Given the description of an element on the screen output the (x, y) to click on. 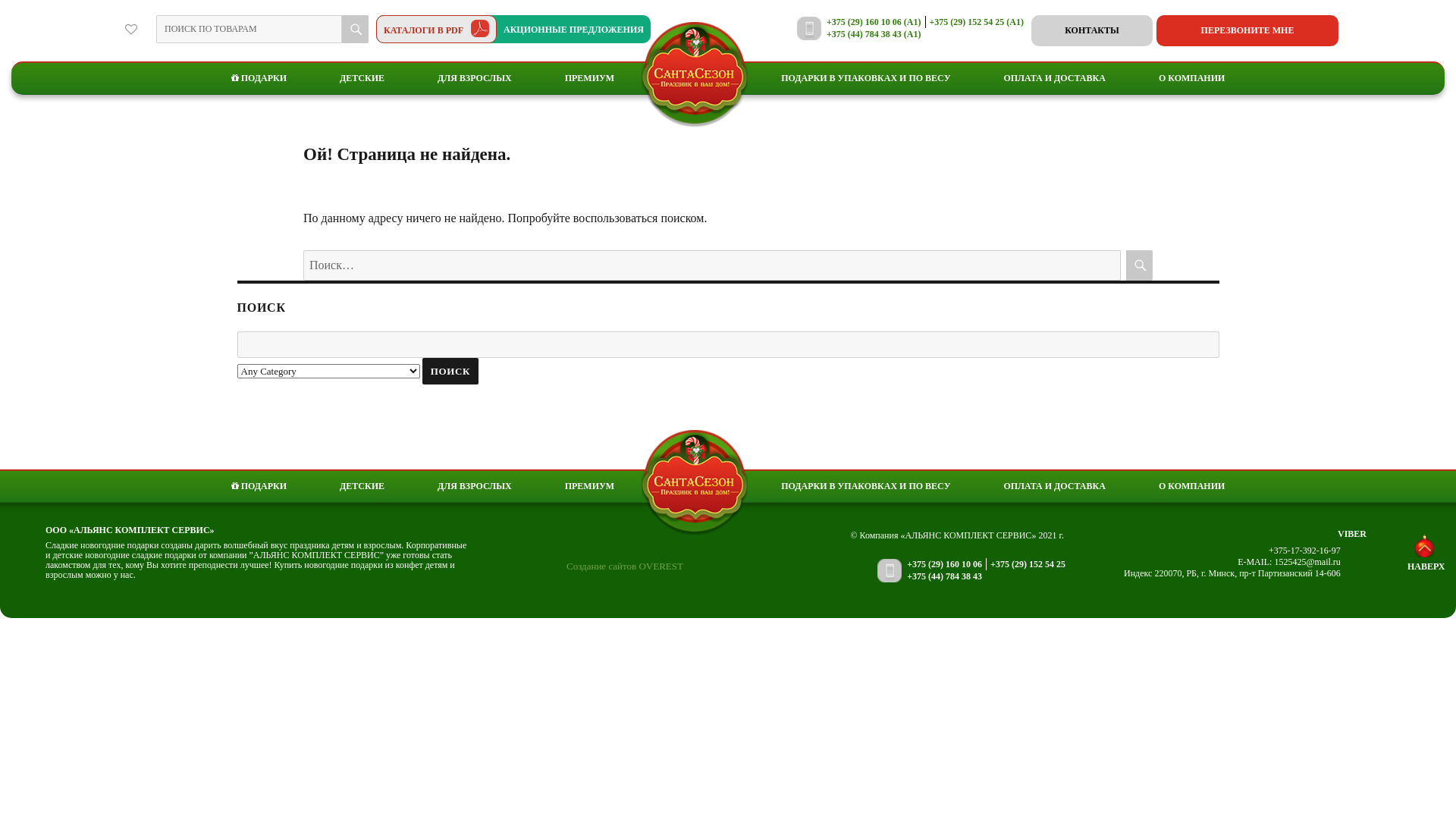
+375 (44) 784 38 43 Element type: text (944, 576)
VIBER Element type: text (1351, 533)
+375 (29) 152 54 25 Element type: text (1027, 564)
+375 (29) 160 10 06 Element type: text (944, 564)
